Given the description of an element on the screen output the (x, y) to click on. 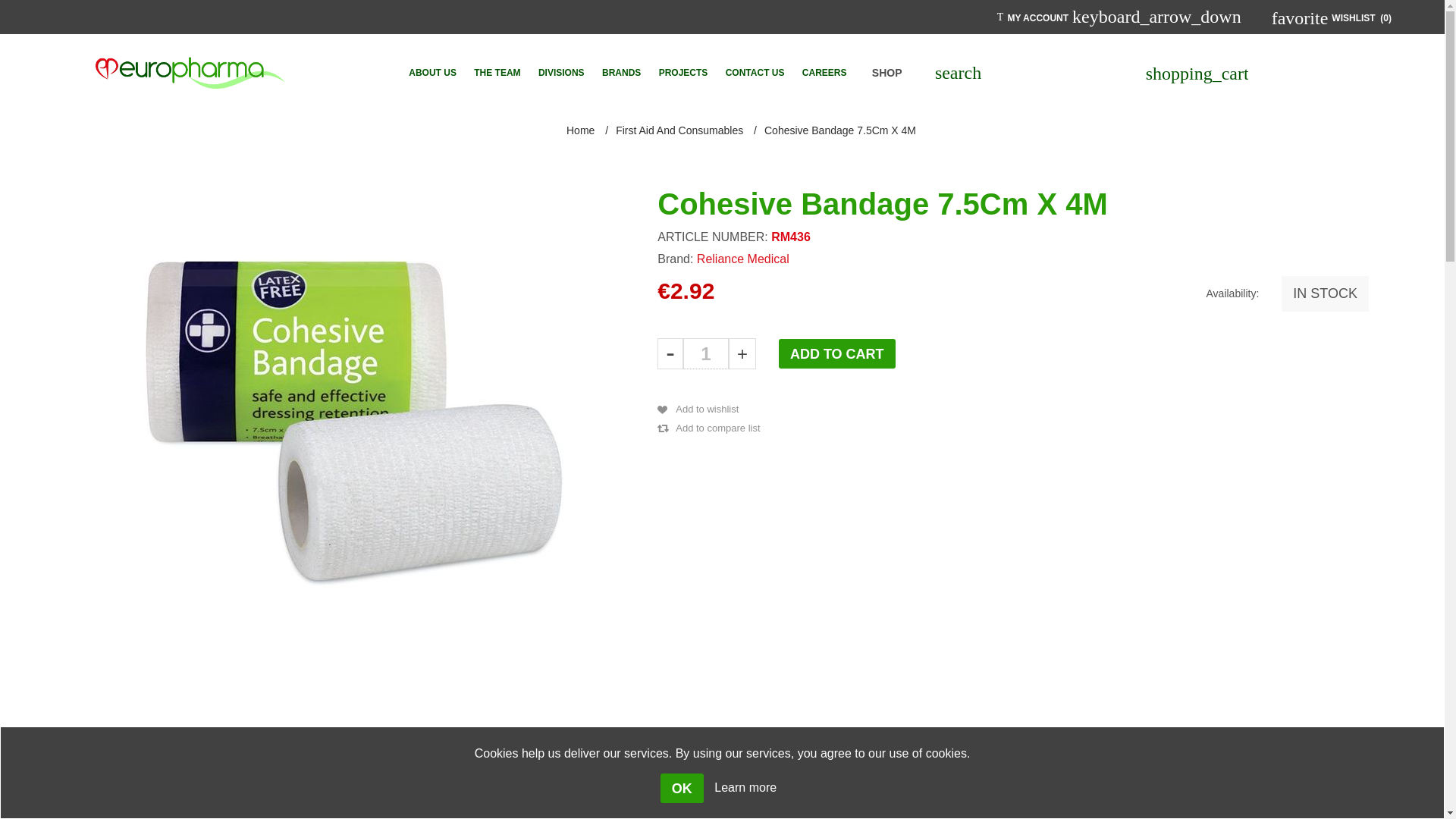
About us (432, 72)
MY ACCOUNT (1037, 17)
Careers (824, 72)
The Team (496, 72)
EuroPharma (190, 72)
DIVISIONS (561, 72)
BRANDS (620, 72)
Add to wishlist (700, 408)
1 (705, 353)
CONTACT US (754, 72)
Projects (683, 72)
CAREERS (824, 72)
Brands (620, 72)
search (957, 72)
Add to compare list (710, 427)
